Given the description of an element on the screen output the (x, y) to click on. 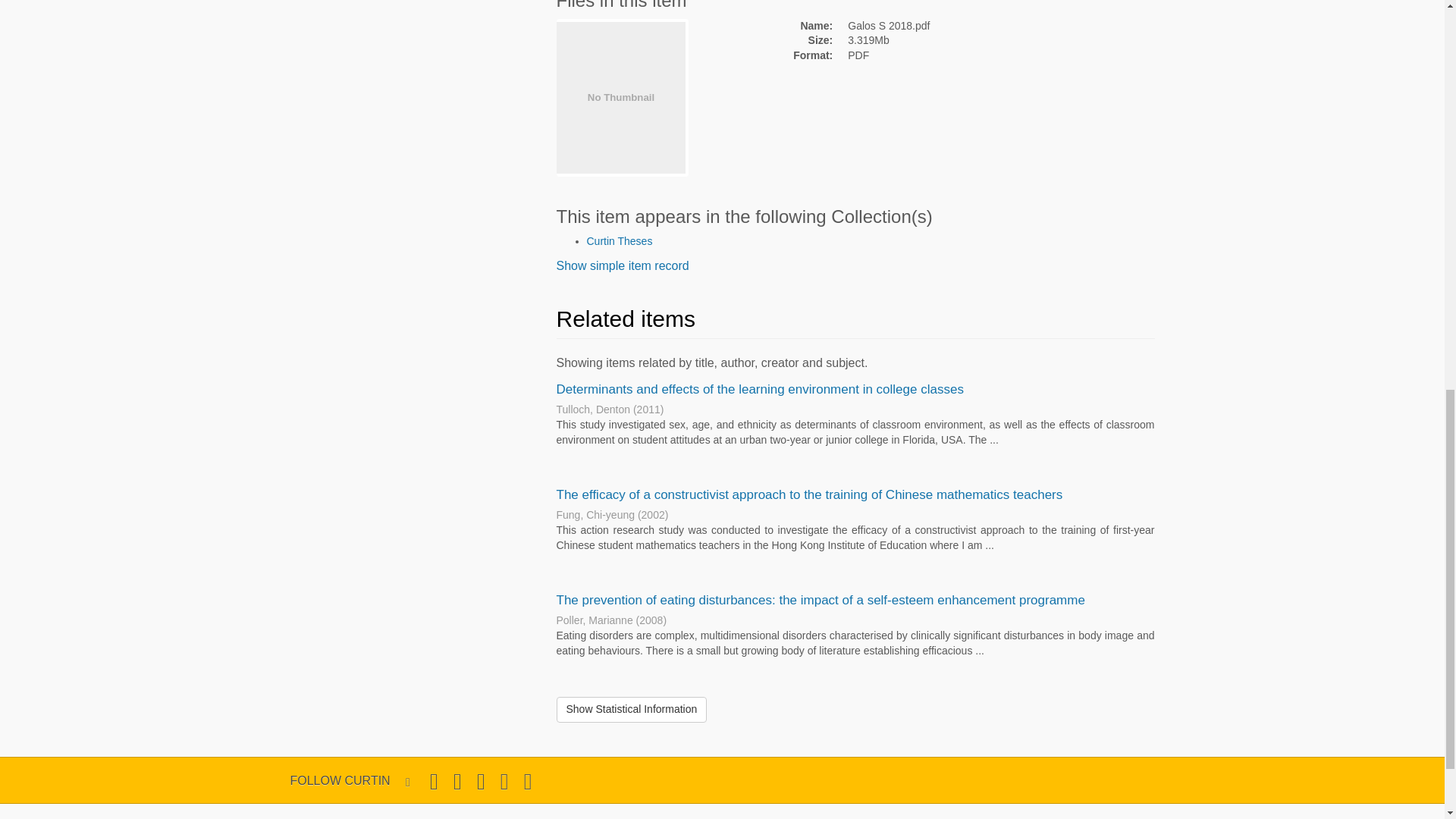
Like Curtin University on Facebook (456, 781)
Galos S 2018.pdf (949, 25)
Curtin Theses (619, 241)
Show Statistical Information (631, 709)
Follow Curtin University on LinkedIn (528, 781)
Show simple item record (622, 265)
Follow Curtin University on Twitter (433, 781)
Follow Curtin University on YouTube (504, 781)
Follow Curtin University on Instagram (480, 781)
